Given the description of an element on the screen output the (x, y) to click on. 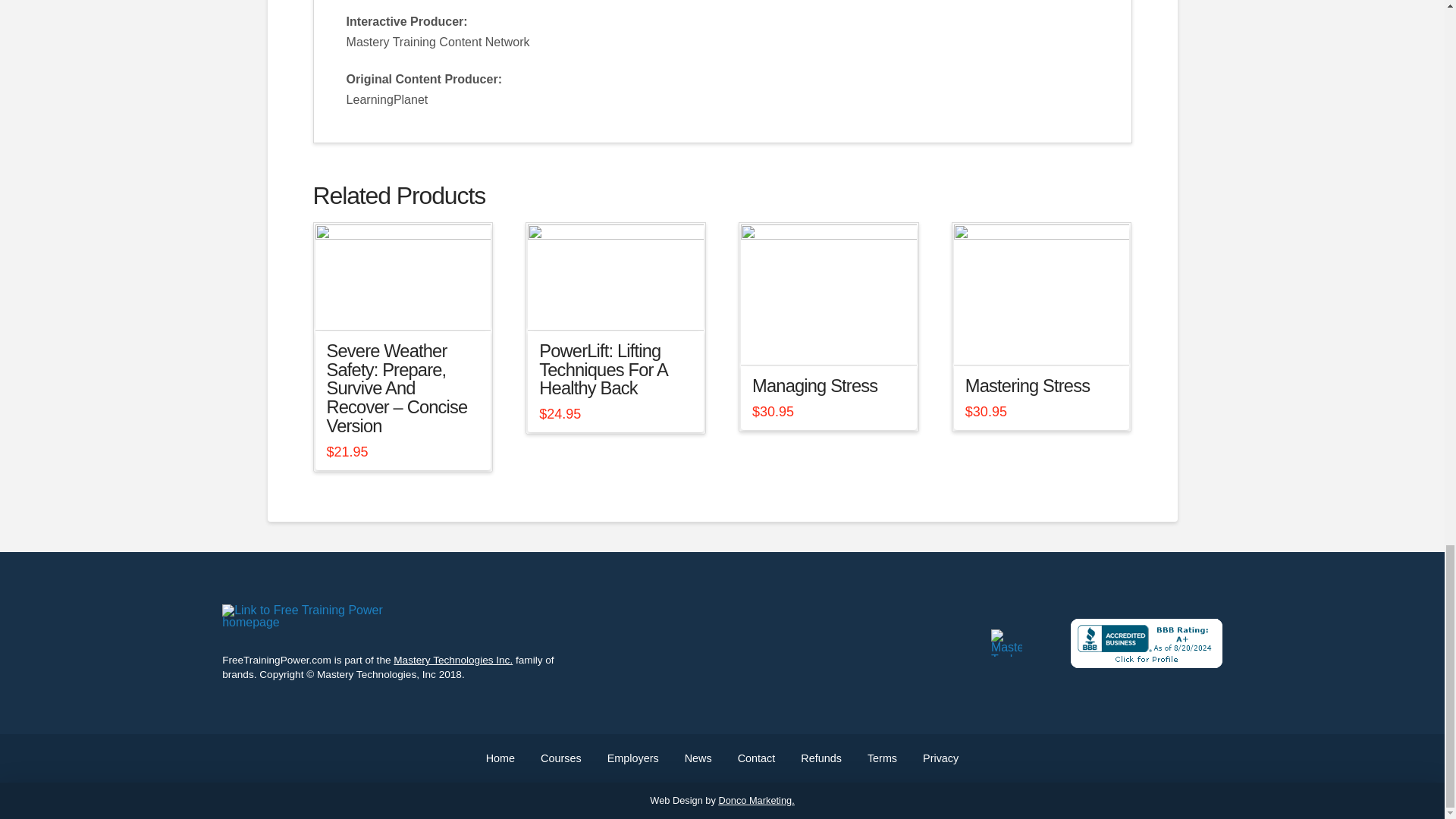
Managing Stress (814, 385)
Home (500, 758)
Mastery Technologies Inc. (452, 659)
Mastering Stress (1027, 385)
PowerLift: Lifting Techniques For A Healthy Back (602, 369)
